Given the description of an element on the screen output the (x, y) to click on. 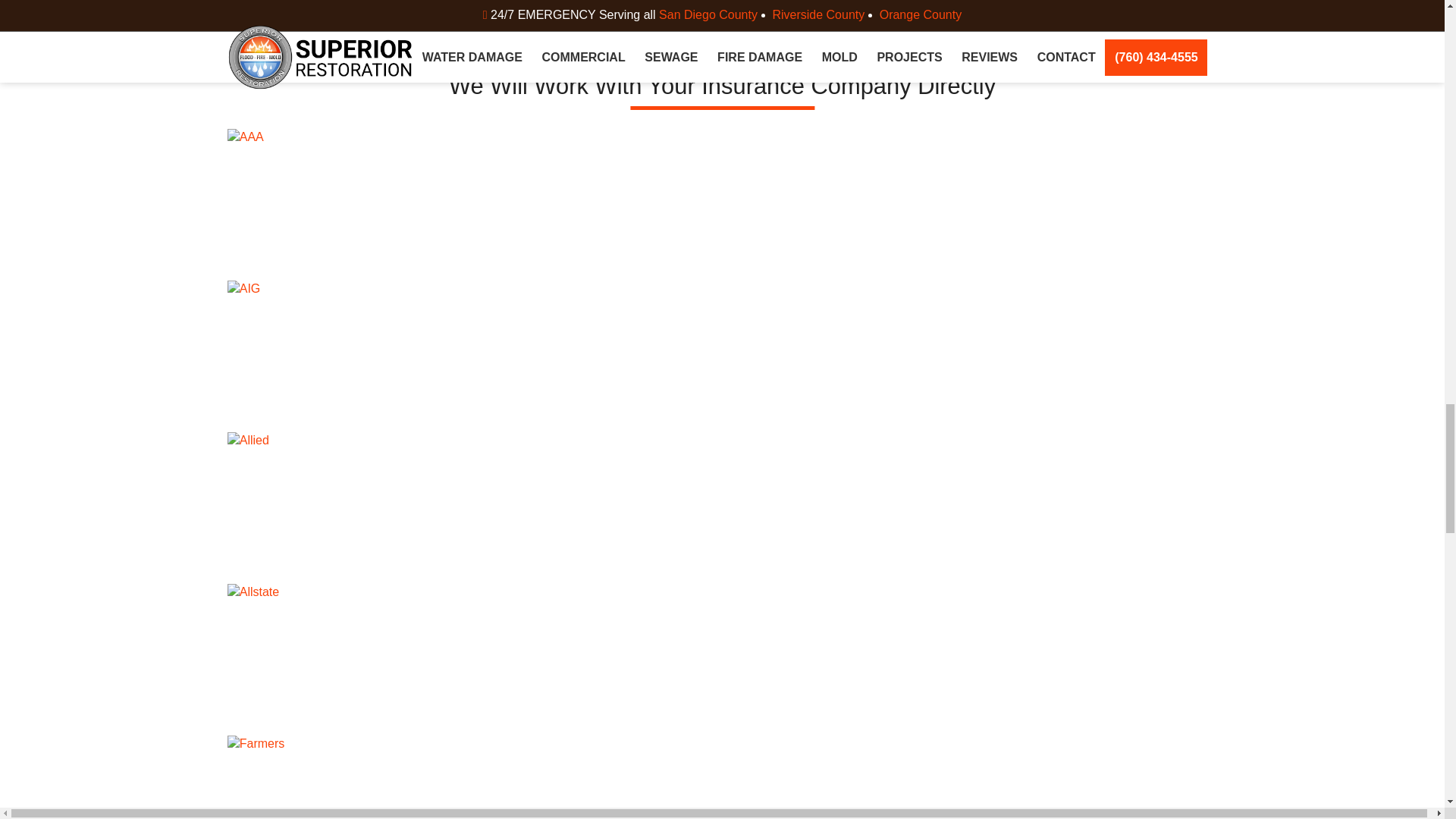
El Cajon, CA 13 (348, 356)
El Cajon, CA 12 (348, 204)
